Given the description of an element on the screen output the (x, y) to click on. 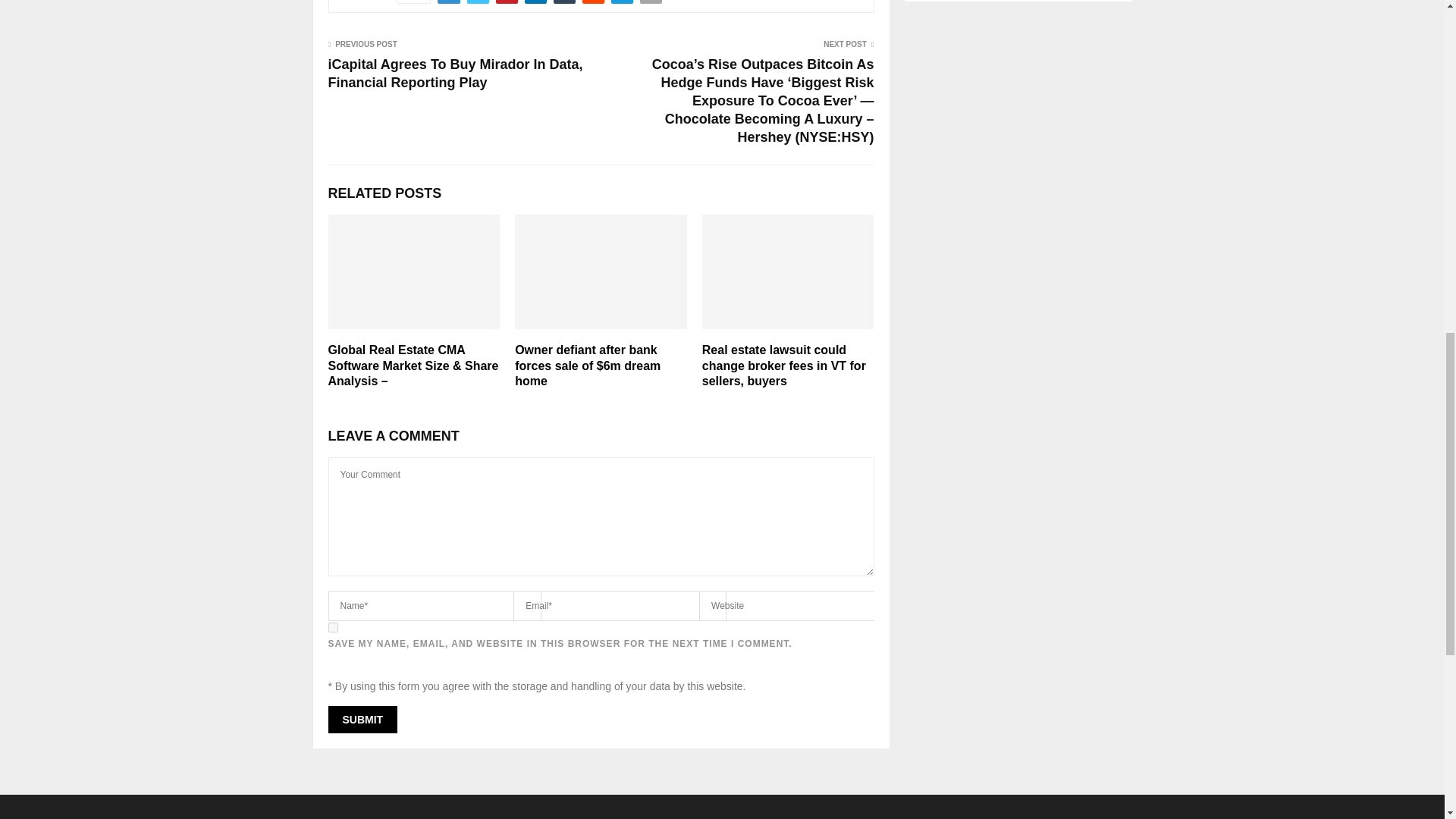
Like (413, 2)
yes (332, 627)
Submit (362, 719)
0 (413, 2)
